Given the description of an element on the screen output the (x, y) to click on. 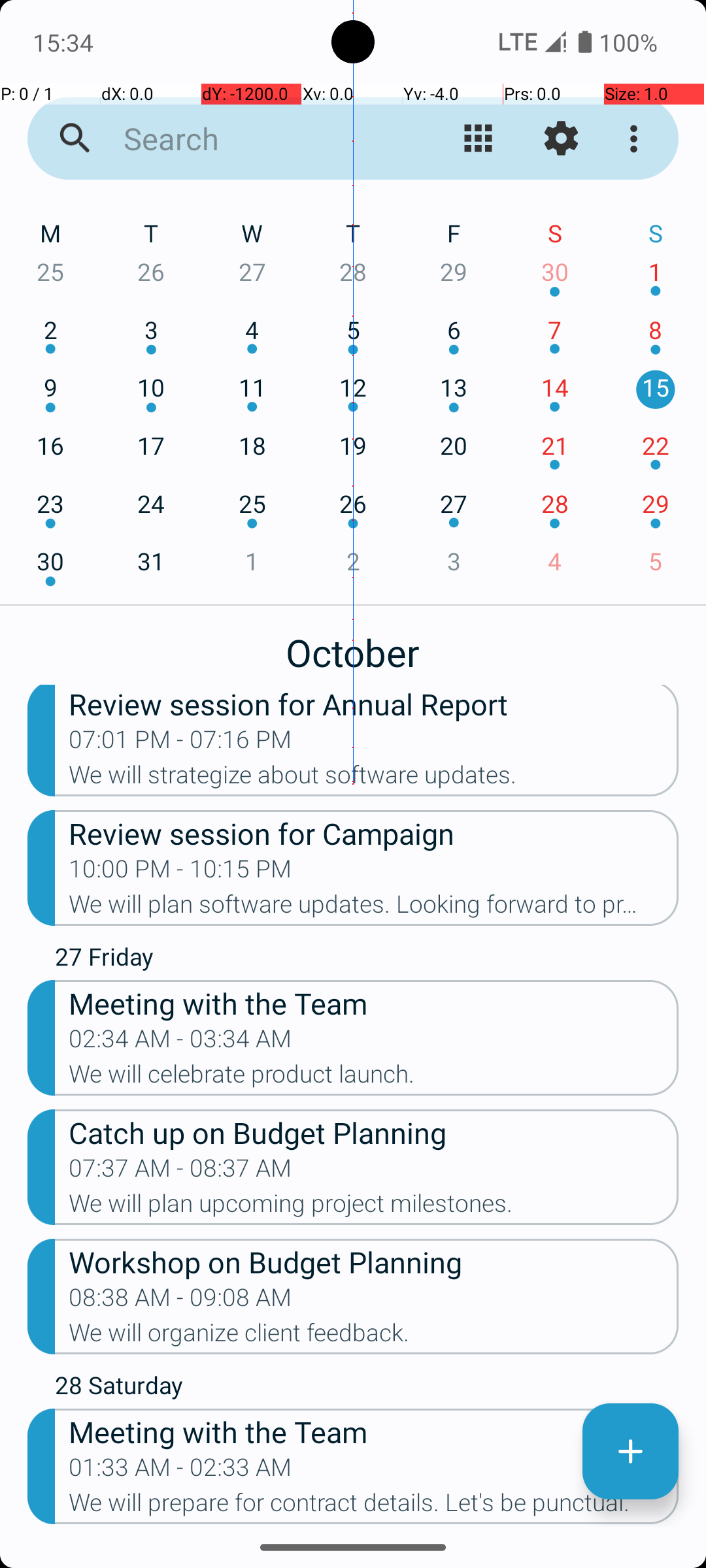
27 Friday Element type: android.widget.TextView (366, 959)
28 Saturday Element type: android.widget.TextView (366, 1388)
07:01 PM - 07:16 PM Element type: android.widget.TextView (179, 743)
We will strategize about software updates. Element type: android.widget.TextView (373, 778)
10:00 PM - 10:15 PM Element type: android.widget.TextView (179, 872)
We will plan software updates. Looking forward to productive discussions. Element type: android.widget.TextView (373, 907)
02:34 AM - 03:34 AM Element type: android.widget.TextView (179, 1042)
We will celebrate product launch. Element type: android.widget.TextView (373, 1077)
07:37 AM - 08:37 AM Element type: android.widget.TextView (179, 1171)
We will plan upcoming project milestones. Element type: android.widget.TextView (373, 1207)
08:38 AM - 09:08 AM Element type: android.widget.TextView (179, 1301)
We will organize client feedback. Element type: android.widget.TextView (373, 1336)
01:33 AM - 02:33 AM Element type: android.widget.TextView (179, 1470)
We will prepare for contract details. Let's be punctual. Element type: android.widget.TextView (373, 1506)
